Given the description of an element on the screen output the (x, y) to click on. 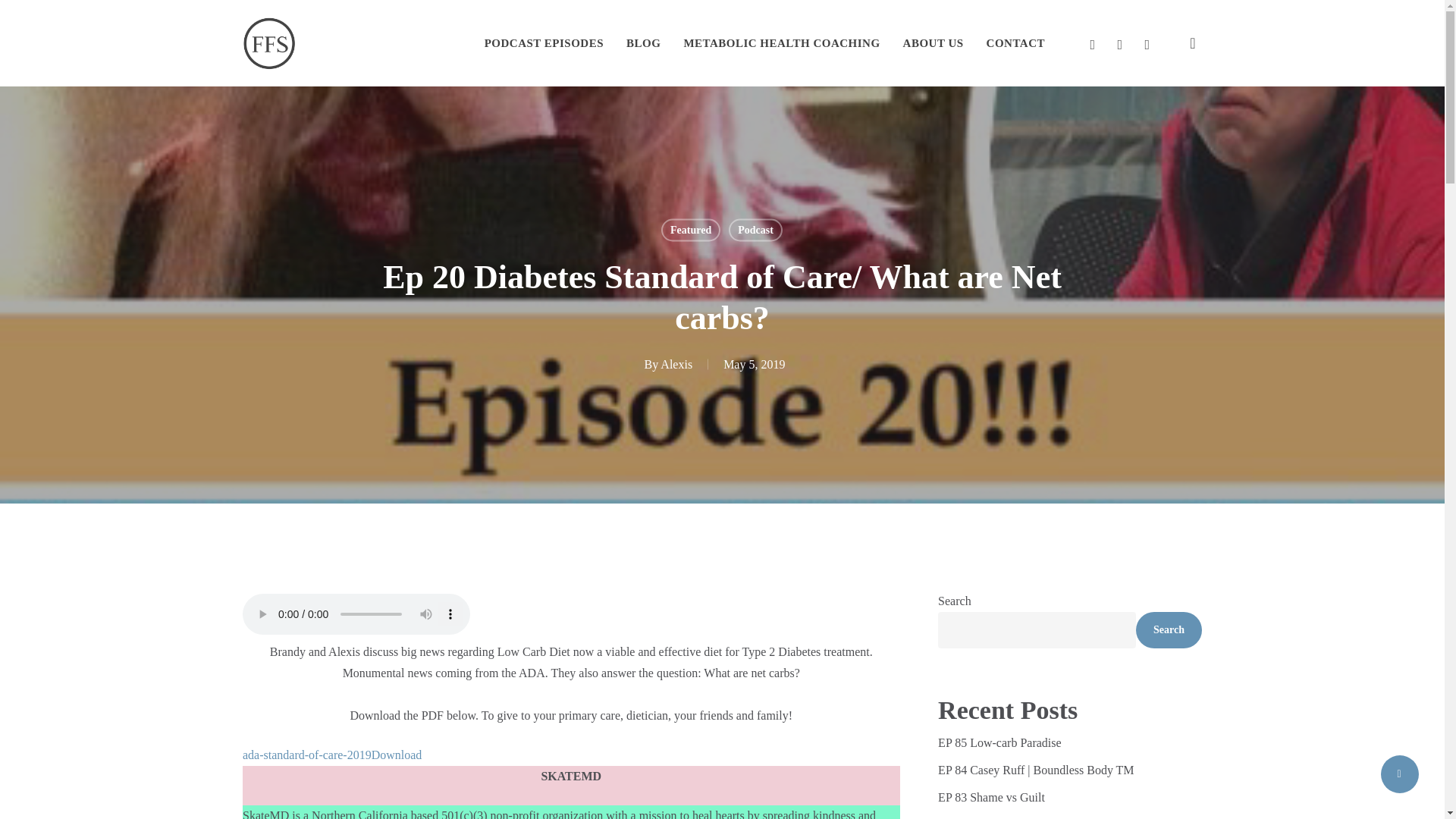
CONTACT (1016, 43)
Posts by Alexis (677, 364)
TWITTER (1092, 43)
Download (396, 754)
ada-standard-of-care-2019 (307, 754)
FACEBOOK (1120, 43)
search (1192, 42)
METABOLIC HEALTH COACHING (781, 43)
PODCAST EPISODES (543, 43)
Podcast (756, 229)
